Given the description of an element on the screen output the (x, y) to click on. 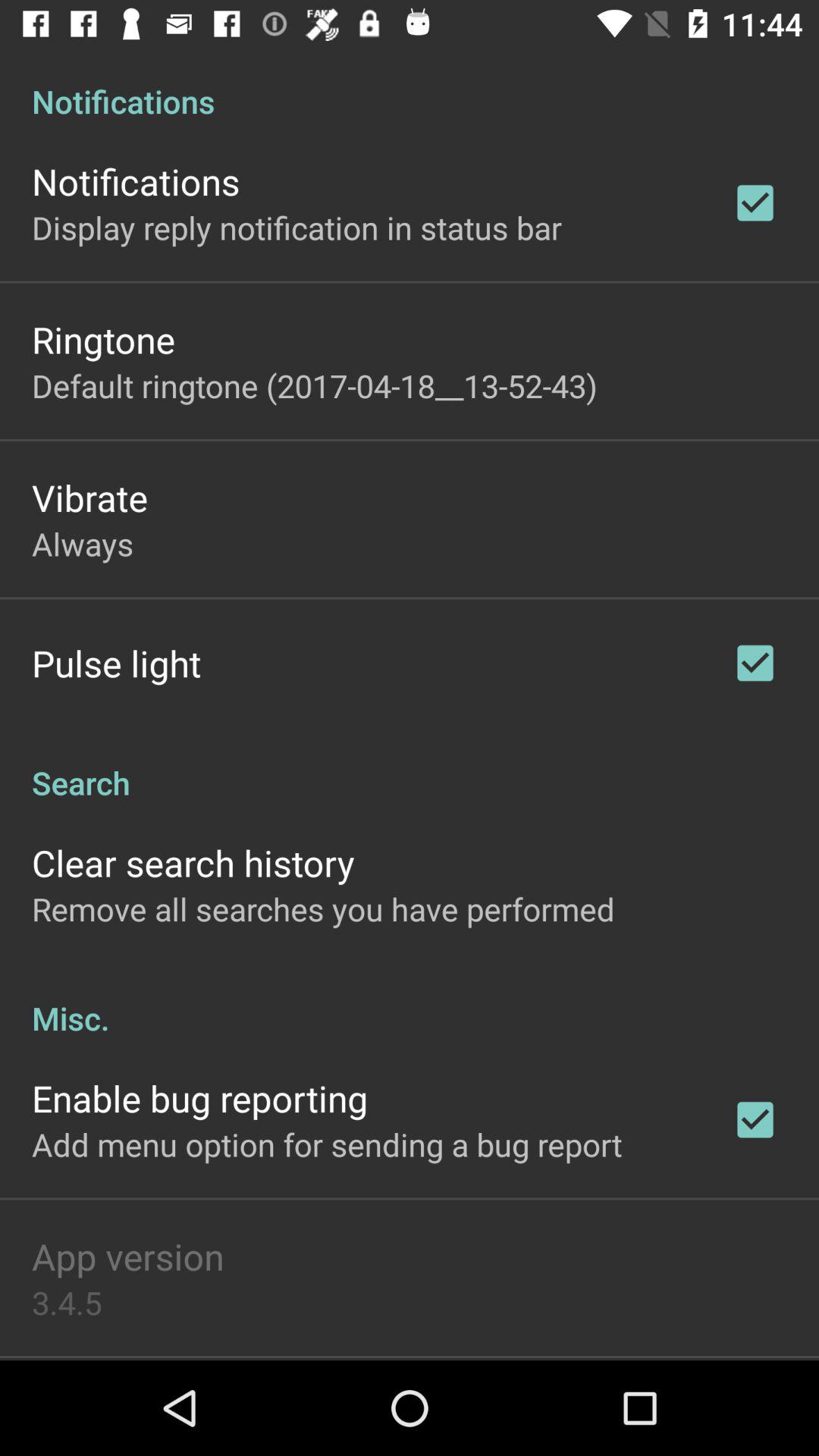
press the icon below app version item (66, 1302)
